Given the description of an element on the screen output the (x, y) to click on. 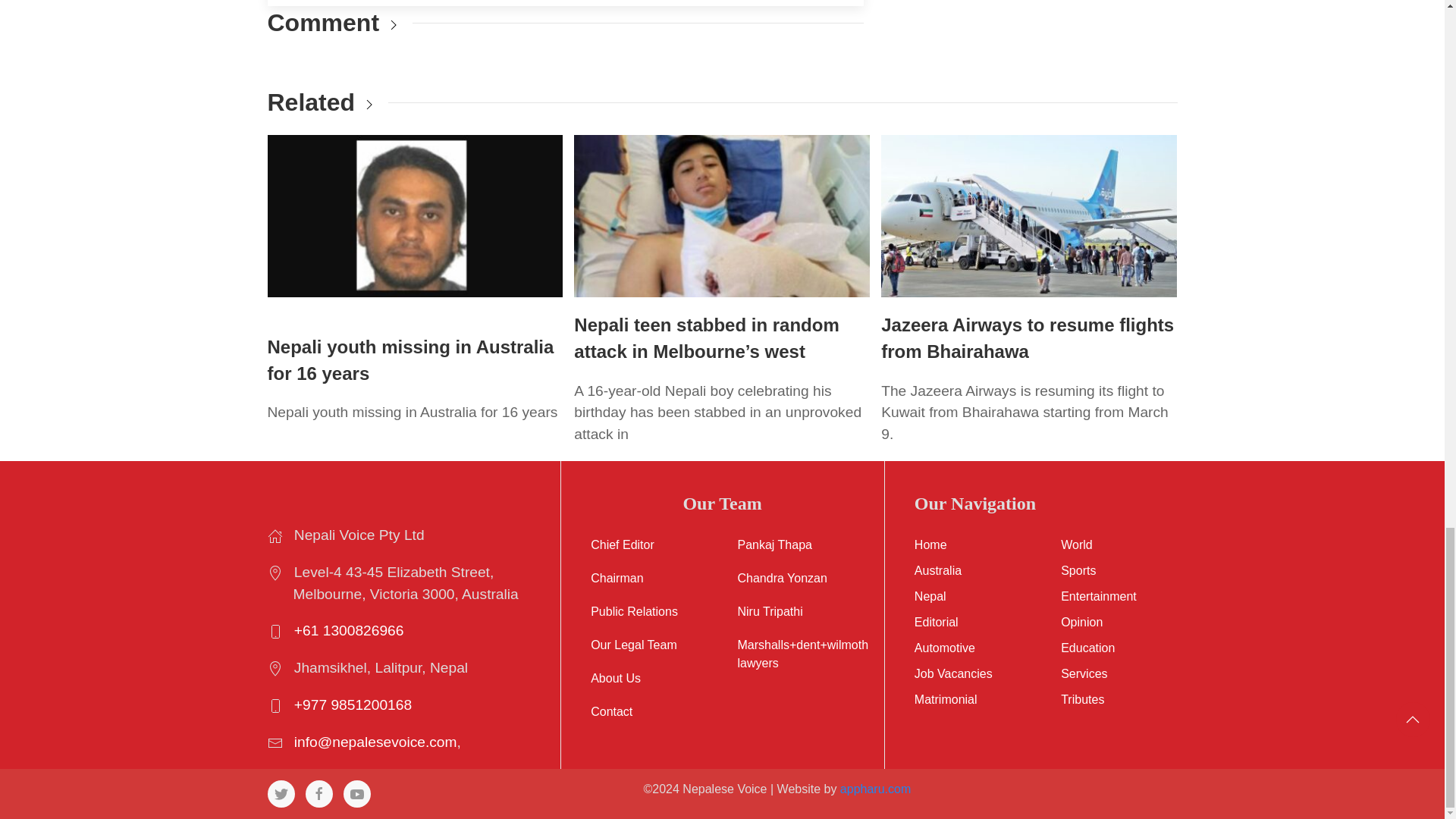
Comment (322, 22)
